Given the description of an element on the screen output the (x, y) to click on. 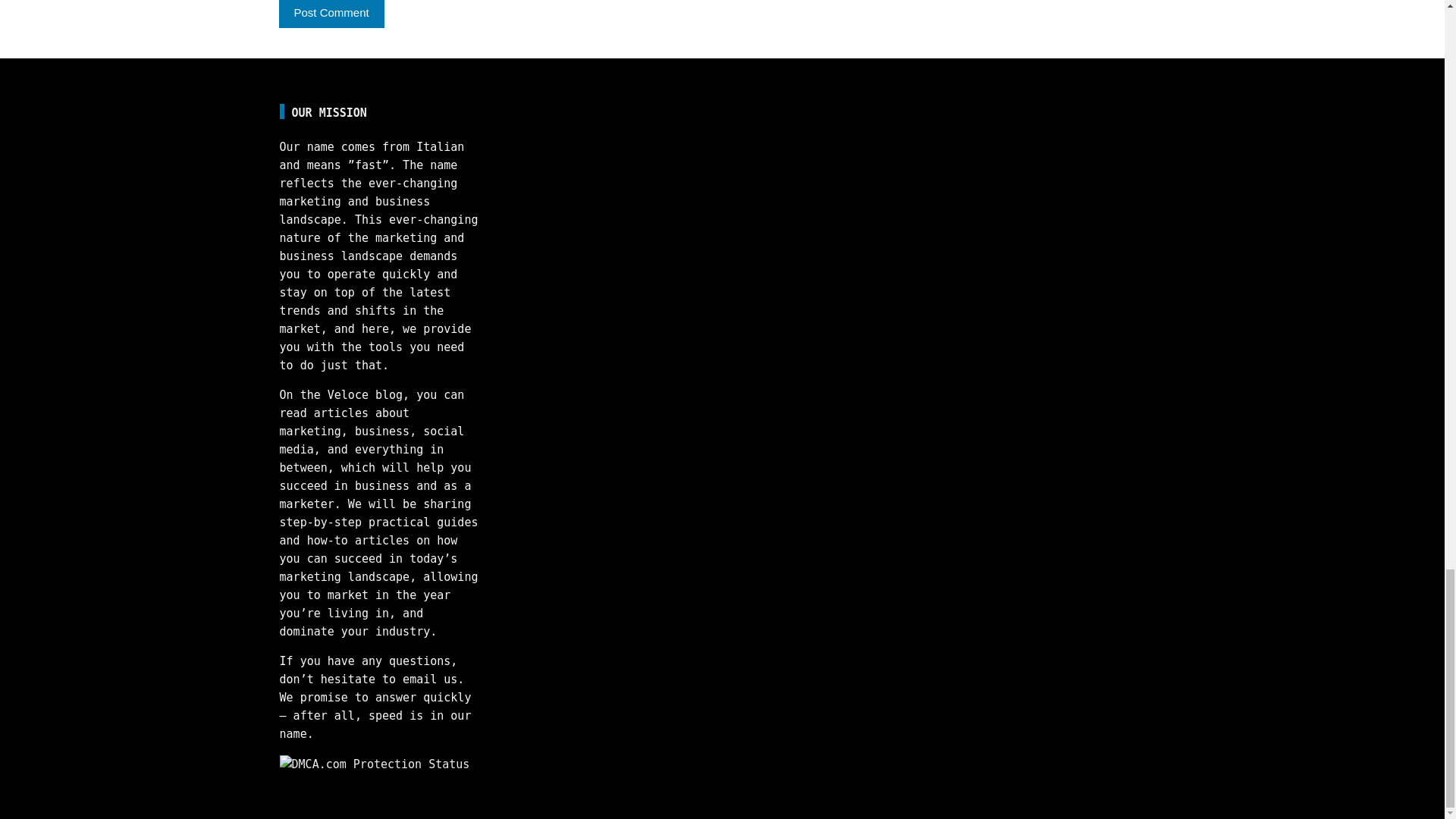
DMCA.com Protection Status (374, 763)
Post Comment (331, 13)
Post Comment (331, 13)
